Given the description of an element on the screen output the (x, y) to click on. 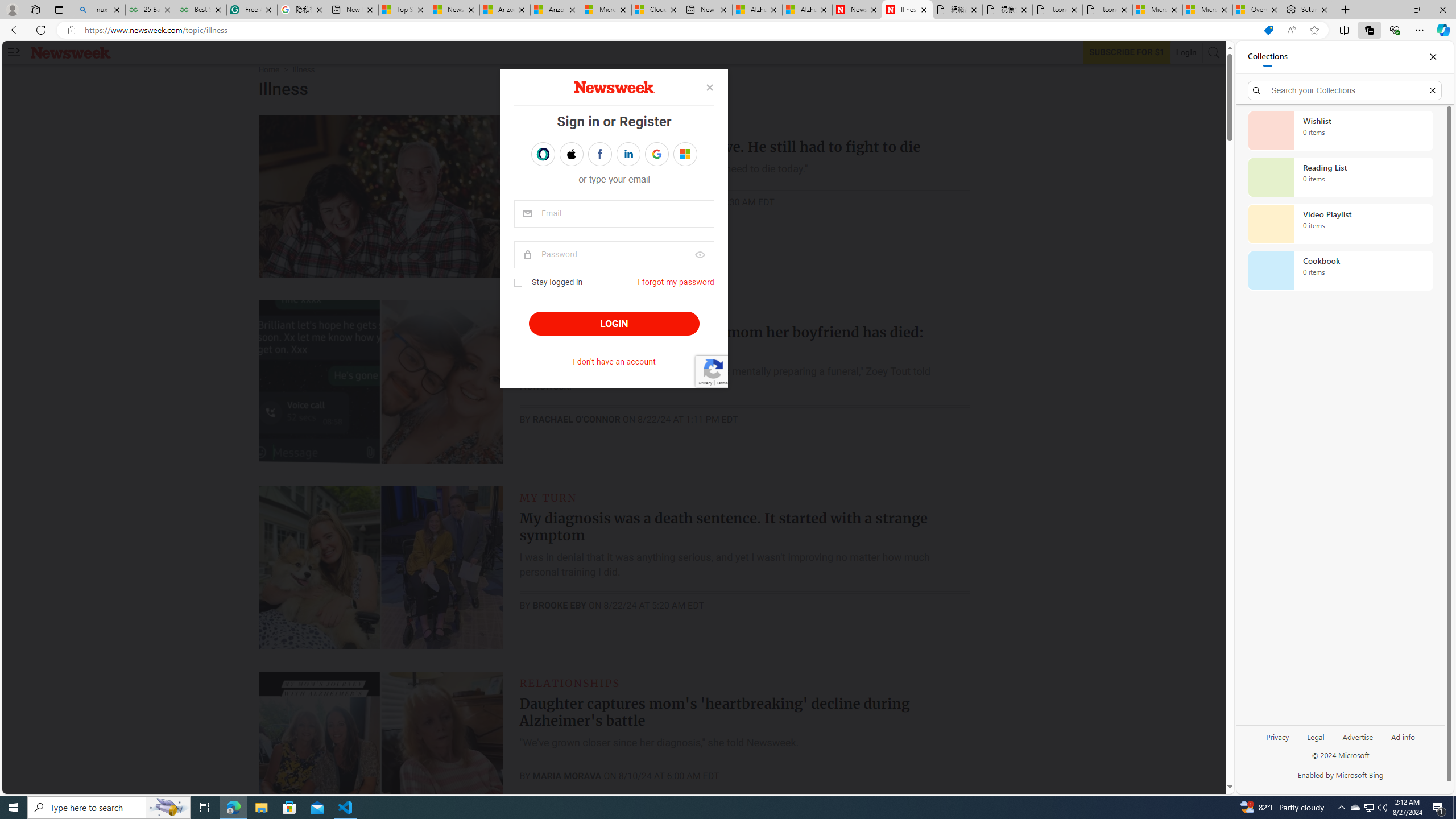
Address and search bar (669, 29)
Advertise (1358, 741)
RELATIONSHIPS (569, 682)
Newsweek logo (70, 51)
I don't have an account (613, 362)
Reading List collection, 0 items (1339, 177)
To get missing image descriptions, open the context menu. (613, 87)
Close tab (1324, 9)
Copilot (Ctrl+Shift+.) (1442, 29)
